Given the description of an element on the screen output the (x, y) to click on. 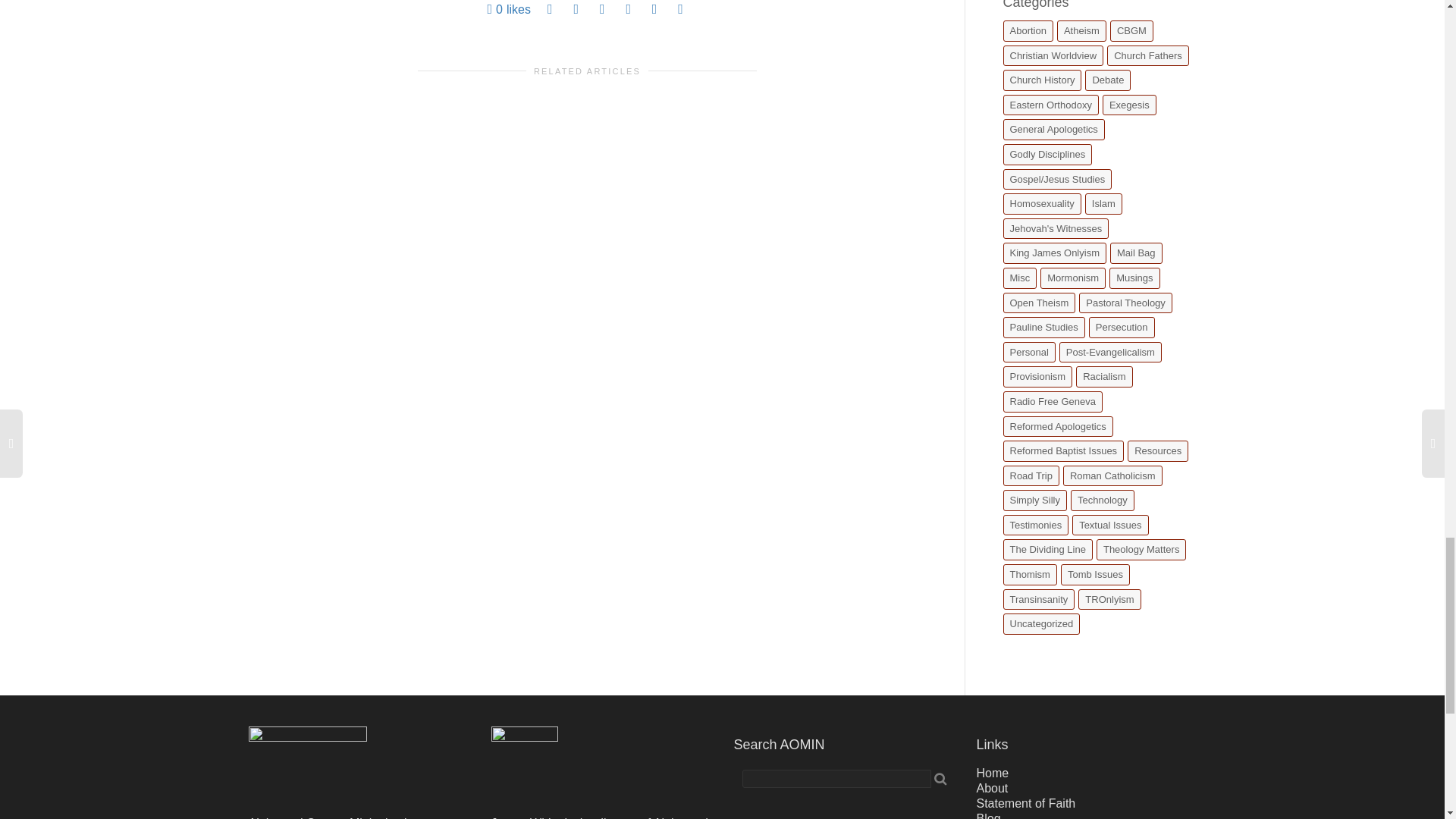
Search (940, 778)
Search (940, 778)
0 likes (508, 9)
